Given the description of an element on the screen output the (x, y) to click on. 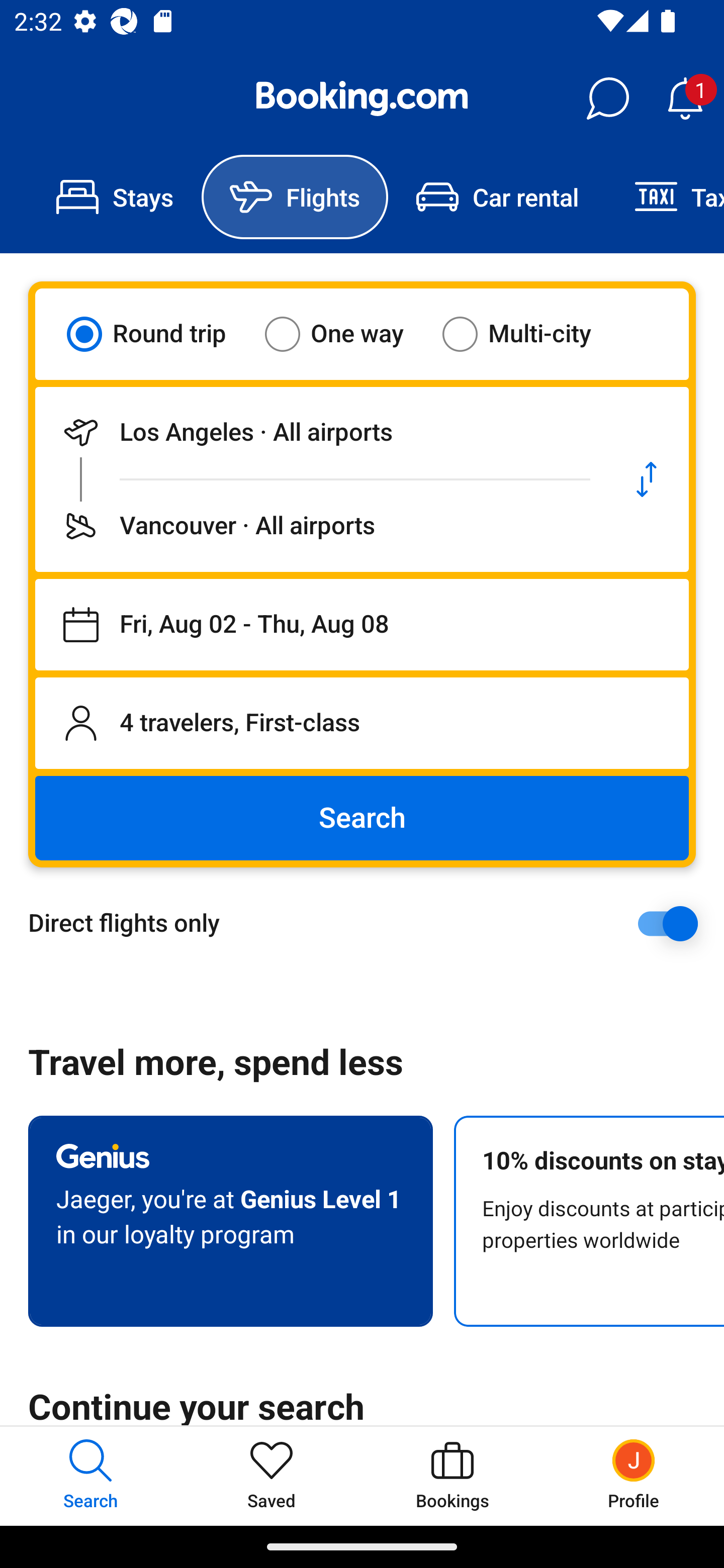
Messages (607, 98)
Notifications (685, 98)
Stays (114, 197)
Flights (294, 197)
Car rental (497, 197)
Taxi (665, 197)
One way (346, 333)
Multi-city (528, 333)
Departing from Los Angeles · All airports (319, 432)
Swap departure location and destination (646, 479)
Flying to Vancouver · All airports (319, 525)
Departing on Fri, Aug 02, returning on Thu, Aug 08 (361, 624)
4 travelers, First-class (361, 722)
Search (361, 818)
Direct flights only (369, 923)
Saved (271, 1475)
Bookings (452, 1475)
Profile (633, 1475)
